Given the description of an element on the screen output the (x, y) to click on. 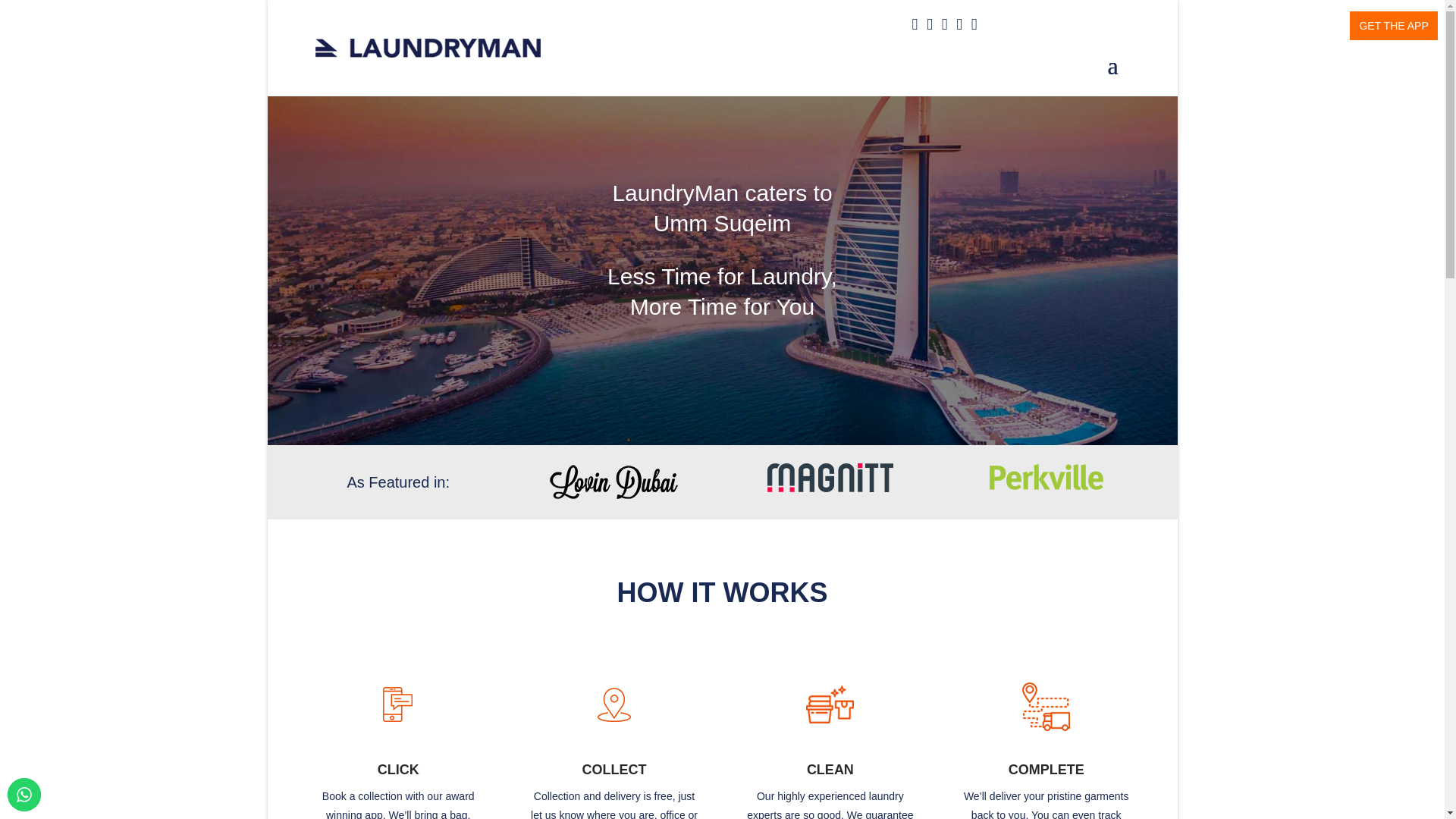
Loving Dubai (1046, 477)
Loving Dubai (830, 477)
GET THE APP (1393, 25)
Opens a widget where you can find more information (1386, 792)
Loving Dubai (614, 482)
